Given the description of an element on the screen output the (x, y) to click on. 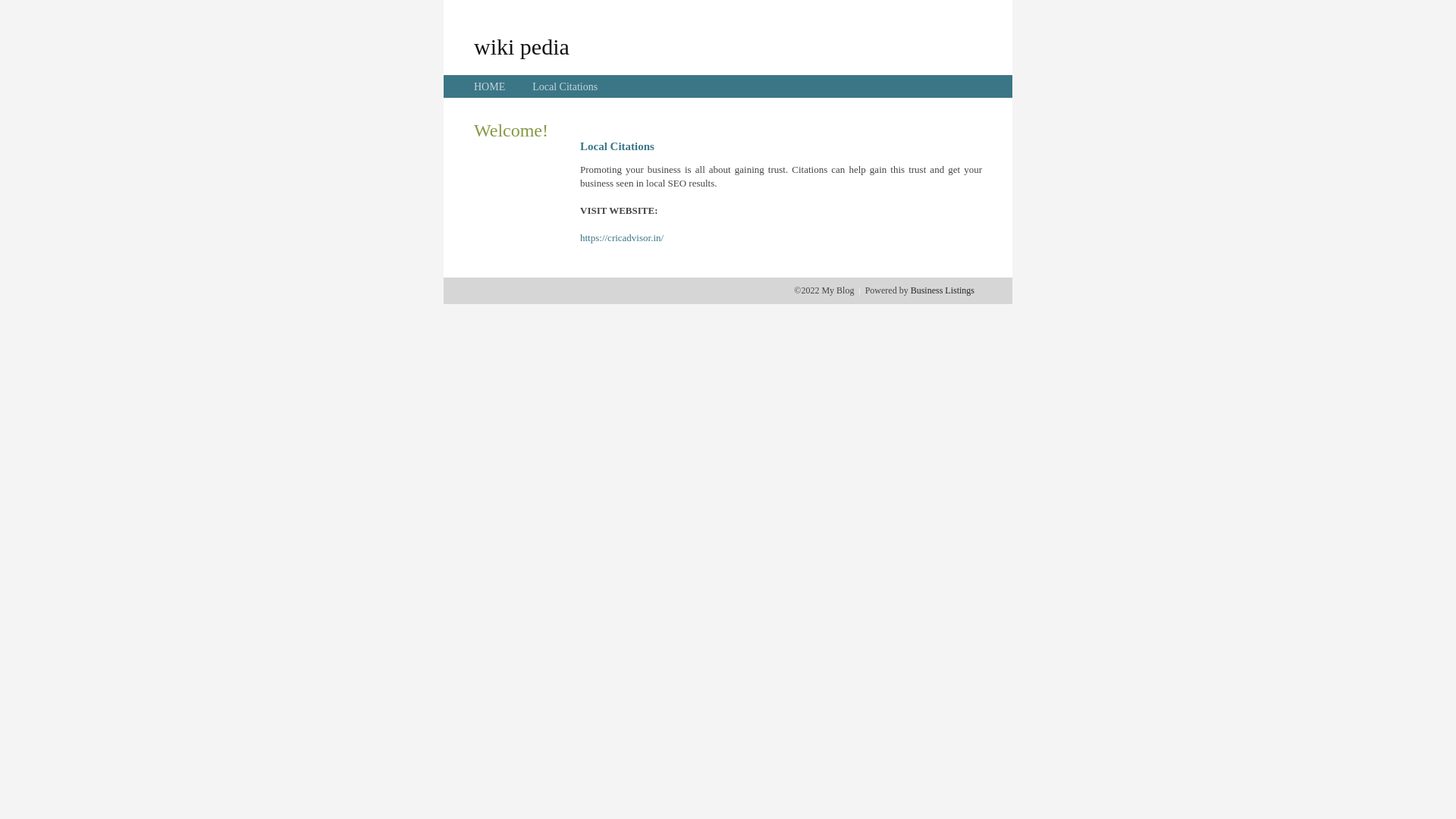
Local Citations Element type: text (564, 86)
Business Listings Element type: text (942, 290)
wiki pedia Element type: text (521, 46)
https://cricadvisor.in/ Element type: text (621, 237)
HOME Element type: text (489, 86)
